Given the description of an element on the screen output the (x, y) to click on. 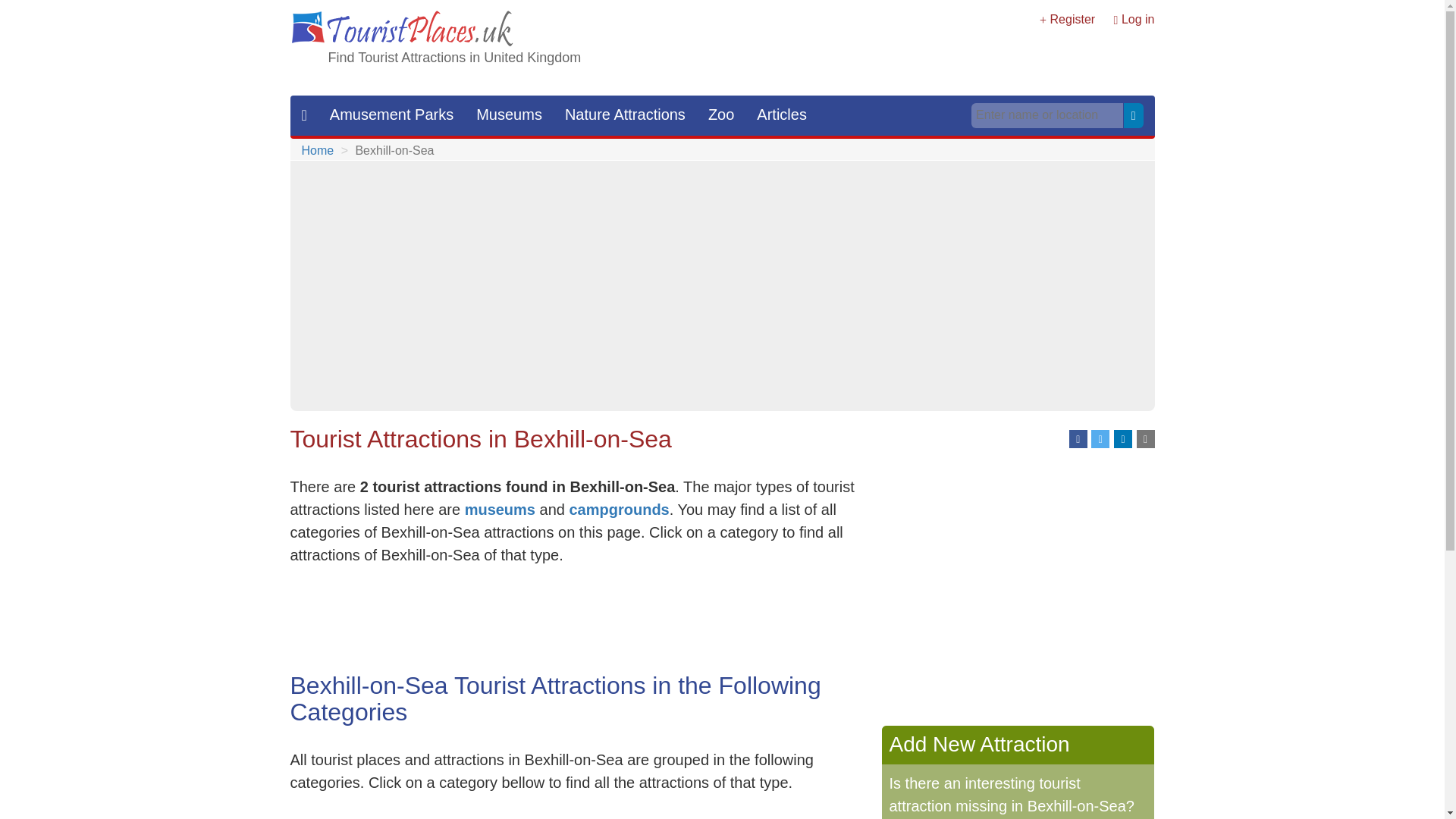
Nature Attractions (625, 114)
Articles (781, 114)
Register (1072, 19)
www.touristplaces.uk (401, 29)
Home (317, 150)
Find Tourist Attractions in United Kingdom (453, 57)
Log in (1137, 19)
Museums (508, 114)
Amusement Parks (391, 114)
museums (499, 509)
Zoo (721, 114)
Museums (426, 810)
campgrounds (618, 509)
Find Tourist Attractions in United Kingdom (453, 57)
Campgrounds (721, 810)
